Given the description of an element on the screen output the (x, y) to click on. 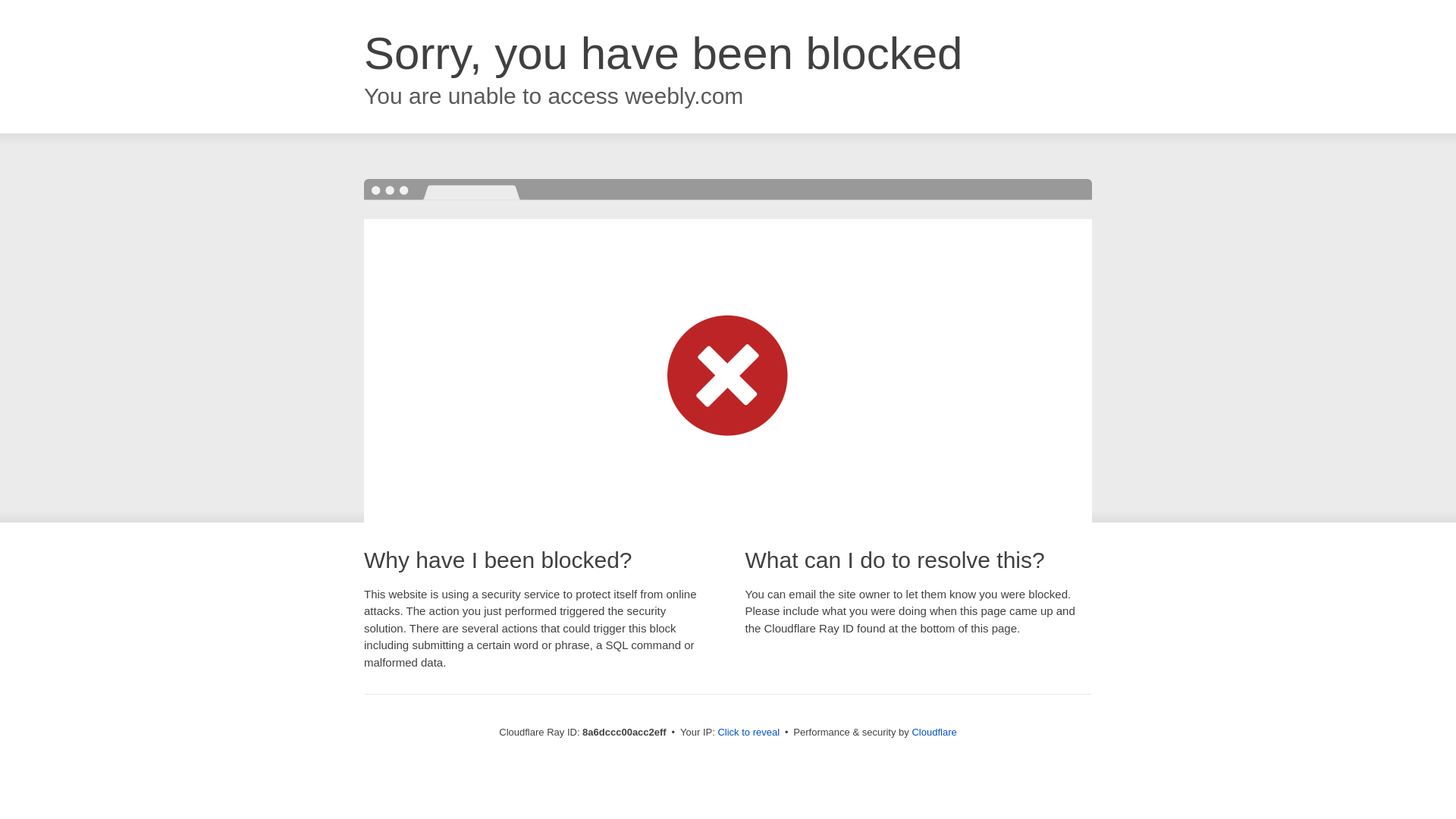
Click to reveal (747, 732)
Cloudflare (933, 731)
